Given the description of an element on the screen output the (x, y) to click on. 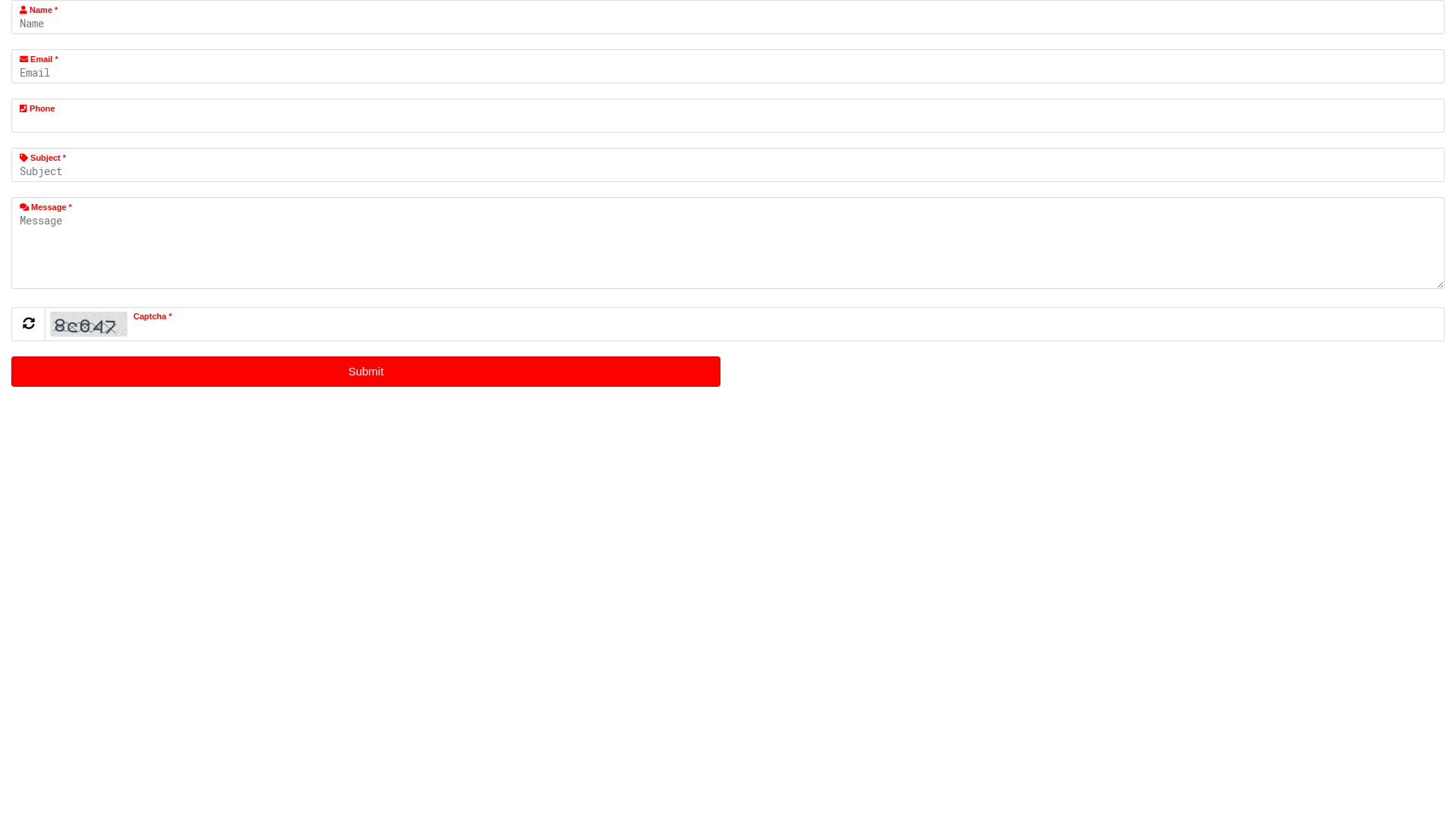
Submit Element type: text (365, 370)
